Given the description of an element on the screen output the (x, y) to click on. 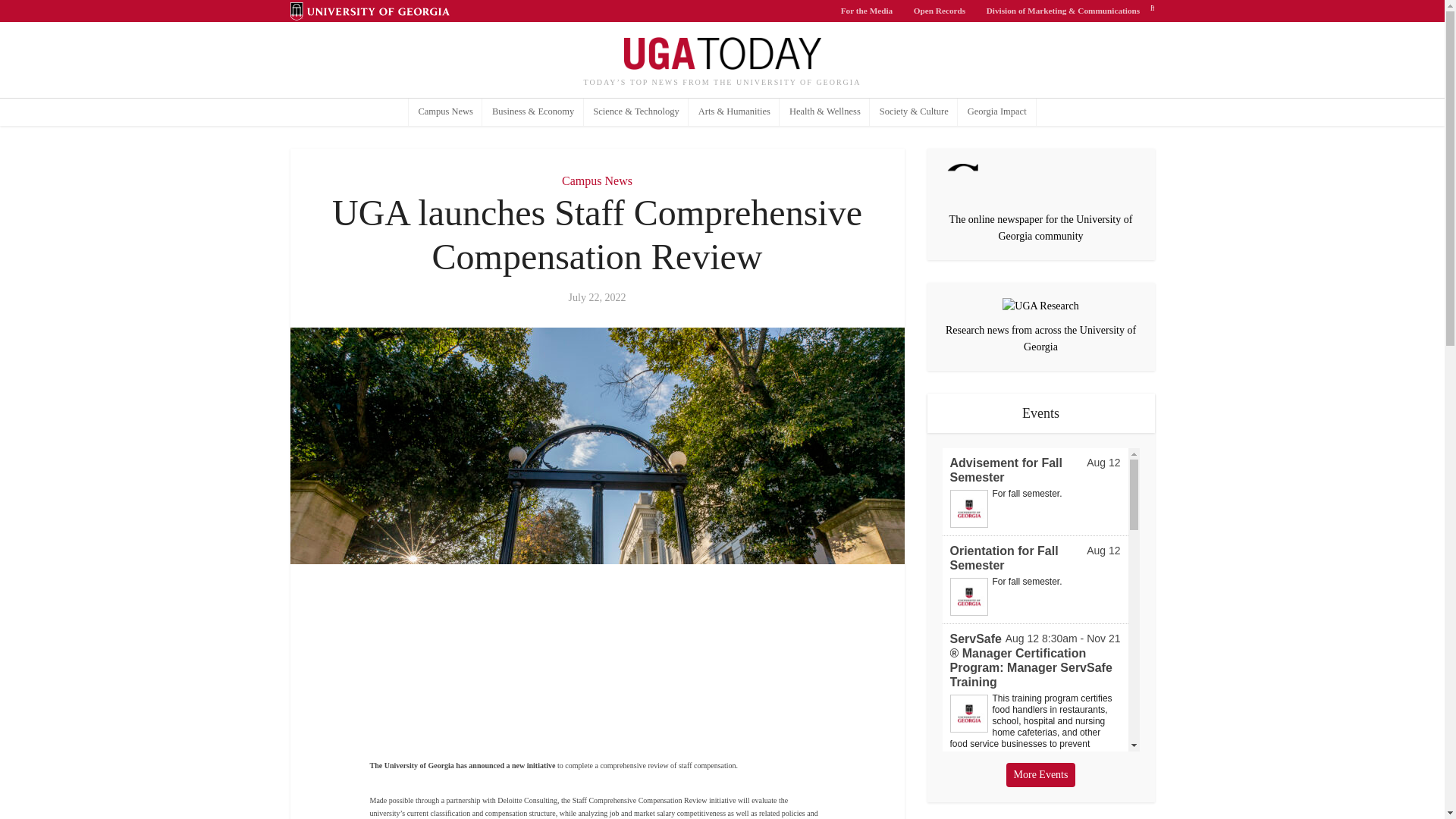
Campus News (596, 180)
Open Records (939, 10)
Georgia Impact (996, 112)
Campus News (446, 112)
For the Media (866, 10)
